Given the description of an element on the screen output the (x, y) to click on. 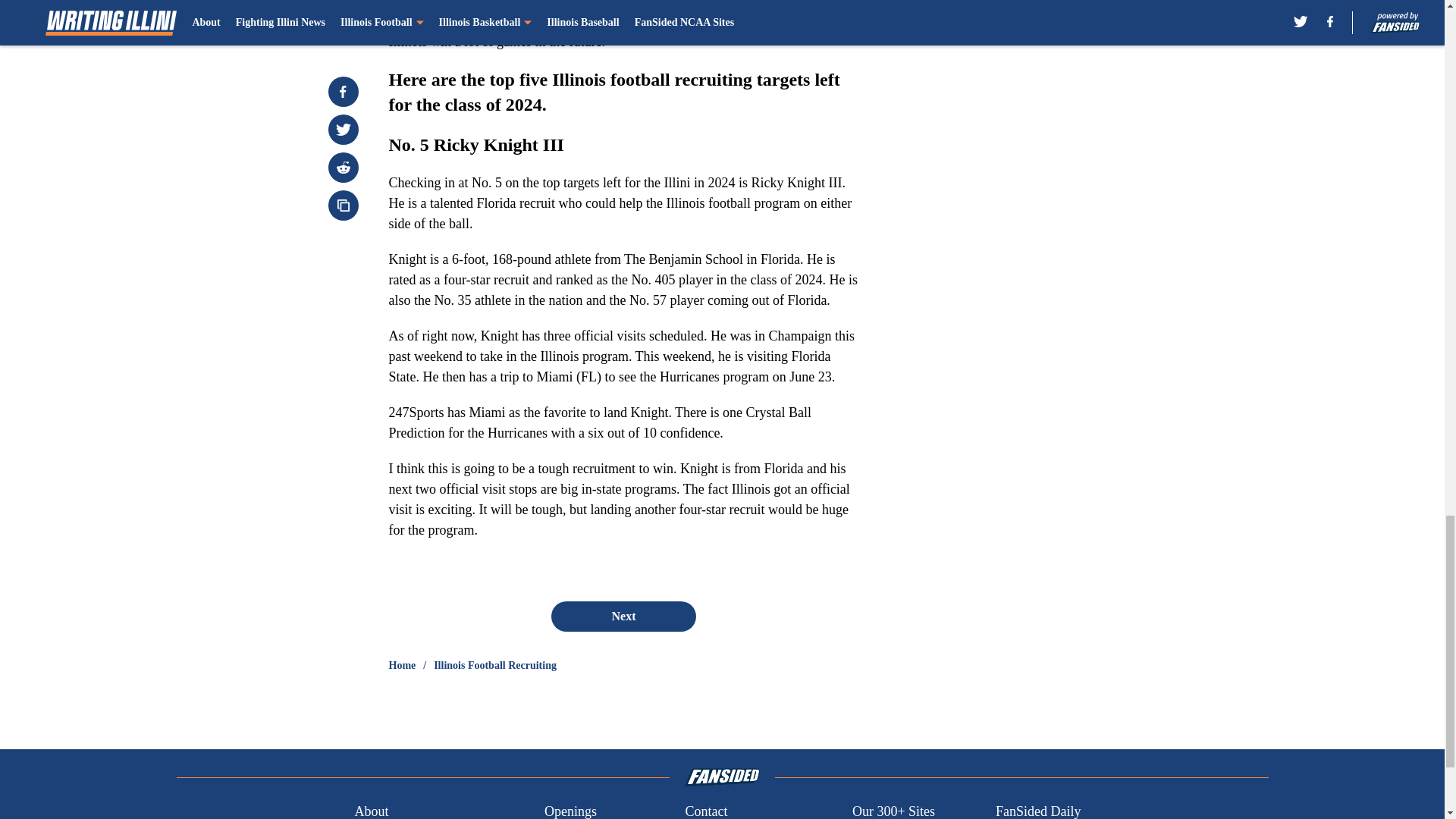
About (370, 810)
Illinois Football Recruiting (494, 665)
Home (401, 665)
Next (622, 616)
FanSided Daily (1038, 810)
Contact (705, 810)
Openings (570, 810)
